Given the description of an element on the screen output the (x, y) to click on. 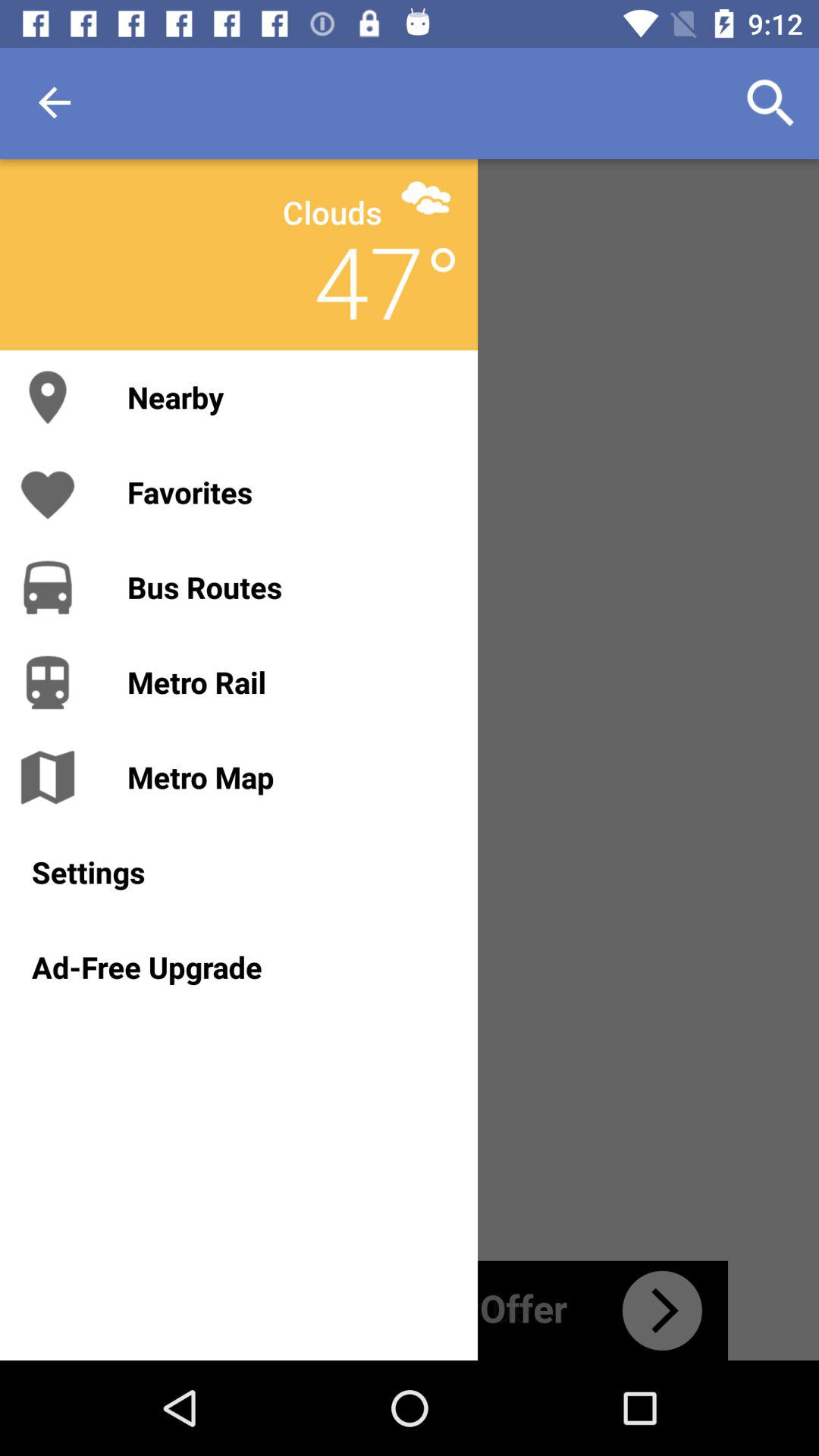
scroll until clouds (332, 211)
